Given the description of an element on the screen output the (x, y) to click on. 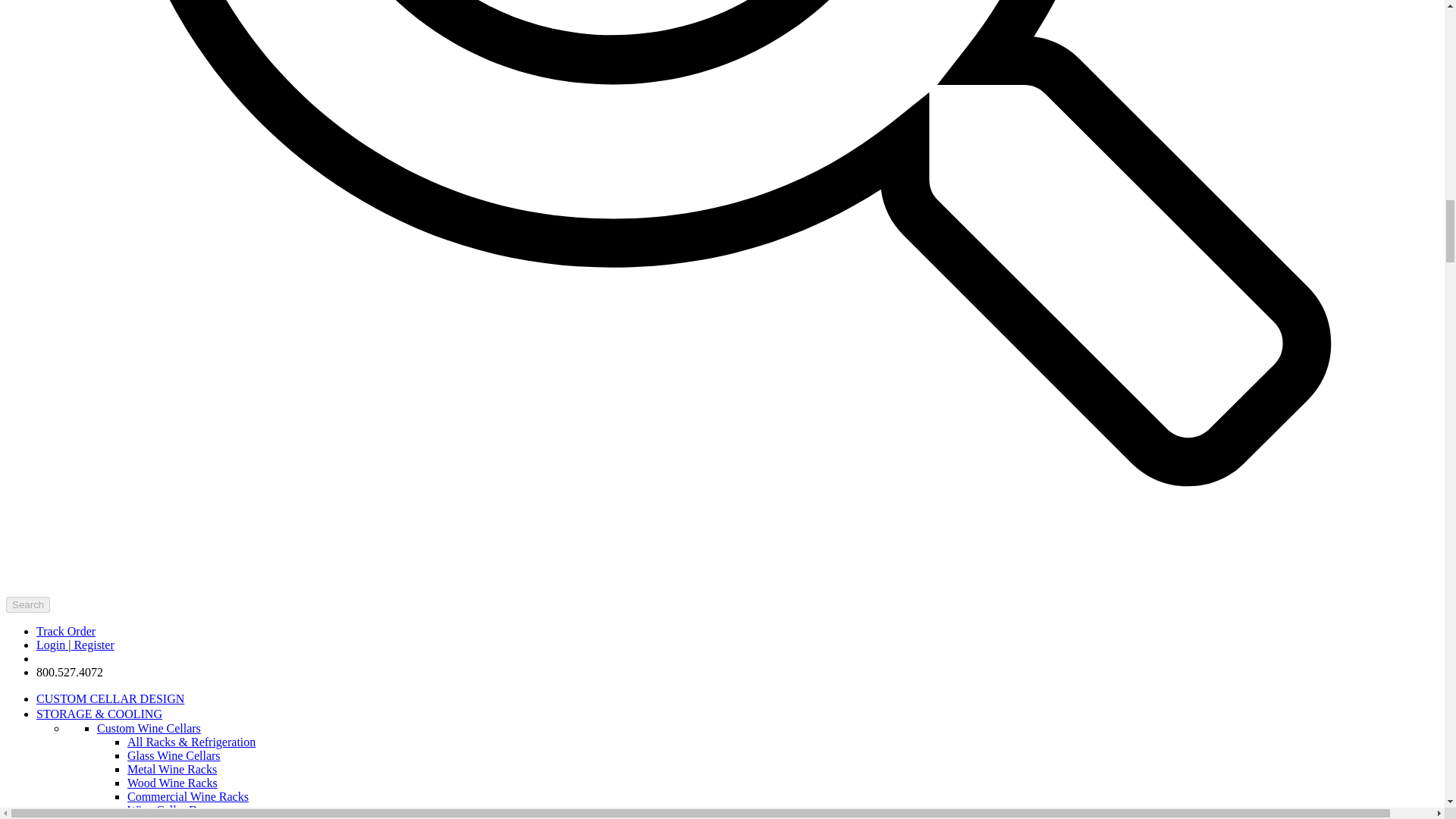
Custom Wine Cellars (148, 727)
Login (52, 644)
Wood Wine Racks (172, 782)
Metal Wine Racks (172, 768)
Glass Wine Cellars (174, 755)
Commercial Wine Racks (188, 796)
CUSTOM CELLAR DESIGN (110, 698)
Search (27, 604)
Wine Cellar Doors (173, 809)
Track Order (66, 631)
